Given the description of an element on the screen output the (x, y) to click on. 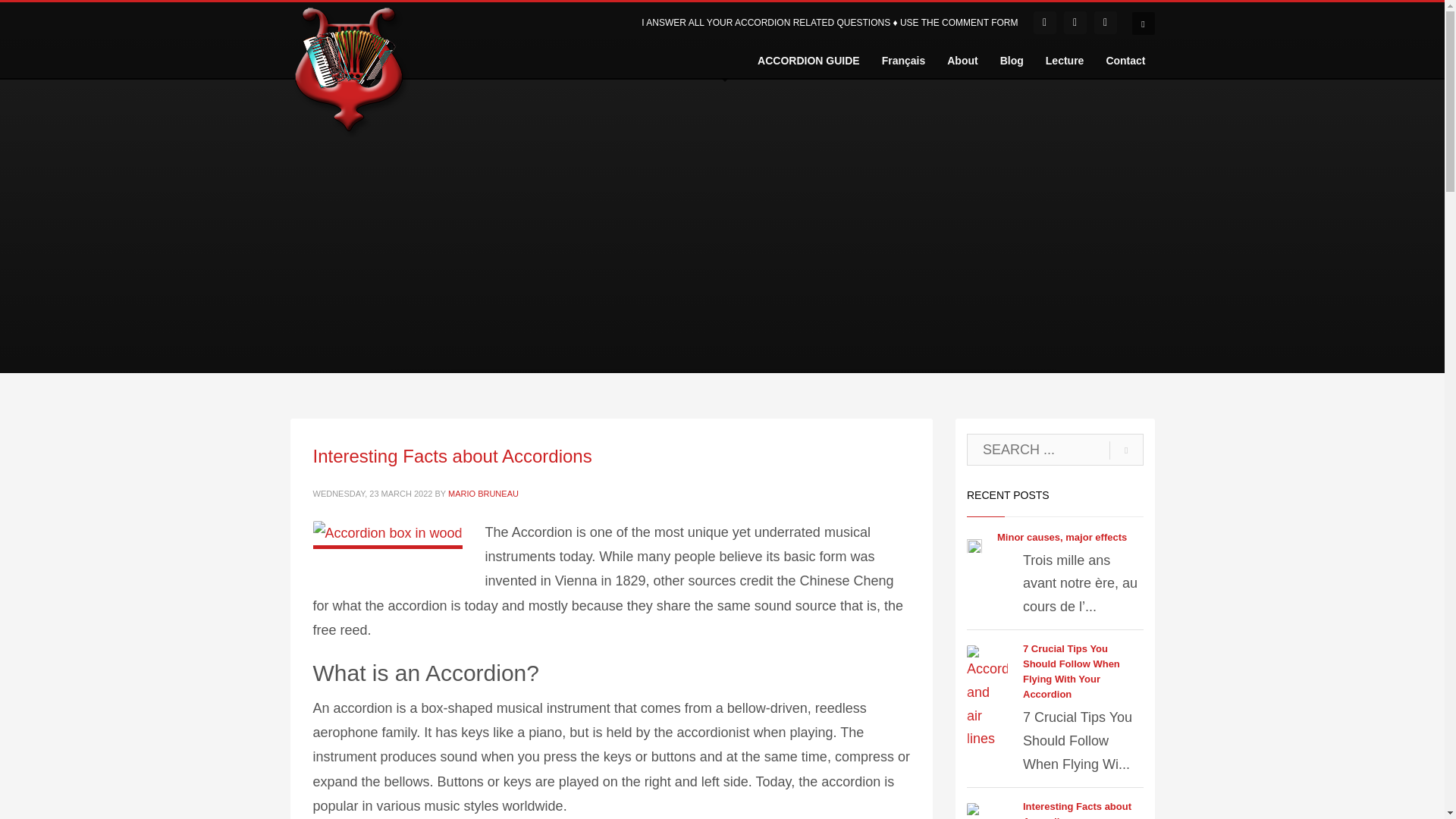
Lecture (1064, 60)
Interesting Facts about Accordions (452, 455)
MARIO BRUNEAU (483, 492)
SoundCloud (1075, 22)
Interesting Facts about Accordions (1077, 809)
Contact (1125, 60)
go (1125, 450)
Minor causes, major effects (1061, 536)
ACCORDION GUIDE (808, 60)
